Given the description of an element on the screen output the (x, y) to click on. 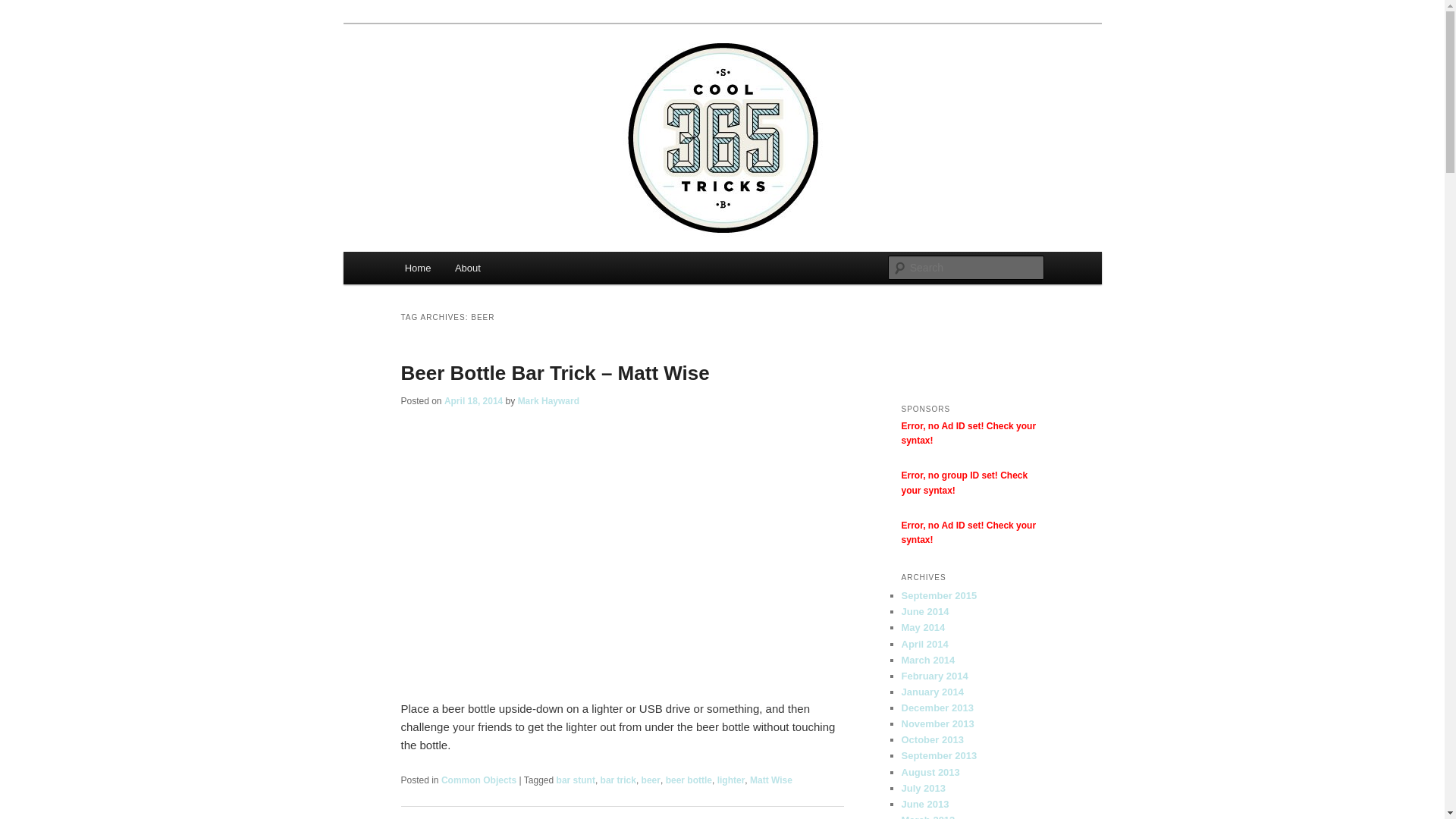
Skip to primary content Element type: text (472, 270)
About Element type: text (467, 267)
December 2013 Element type: text (936, 707)
September 2015 Element type: text (938, 595)
October 2013 Element type: text (931, 739)
August 2013 Element type: text (929, 772)
March 2014 Element type: text (927, 659)
Home Element type: text (417, 267)
Mark Hayward Element type: text (548, 400)
February 2014 Element type: text (933, 675)
January 2014 Element type: text (931, 691)
June 2014 Element type: text (924, 611)
Skip to secondary content Element type: text (479, 270)
September 2013 Element type: text (938, 755)
bar trick Element type: text (618, 780)
365 Cool Tricks Element type: text (483, 78)
beer bottle Element type: text (688, 780)
November 2013 Element type: text (936, 723)
June 2013 Element type: text (924, 803)
May 2014 Element type: text (922, 627)
Common Objects Element type: text (478, 780)
July 2013 Element type: text (922, 787)
Search Element type: text (24, 8)
April 2014 Element type: text (923, 643)
Matt Wise Element type: text (770, 780)
bar stunt Element type: text (575, 780)
beer Element type: text (650, 780)
lighter Element type: text (731, 780)
April 18, 2014 Element type: text (473, 400)
